Given the description of an element on the screen output the (x, y) to click on. 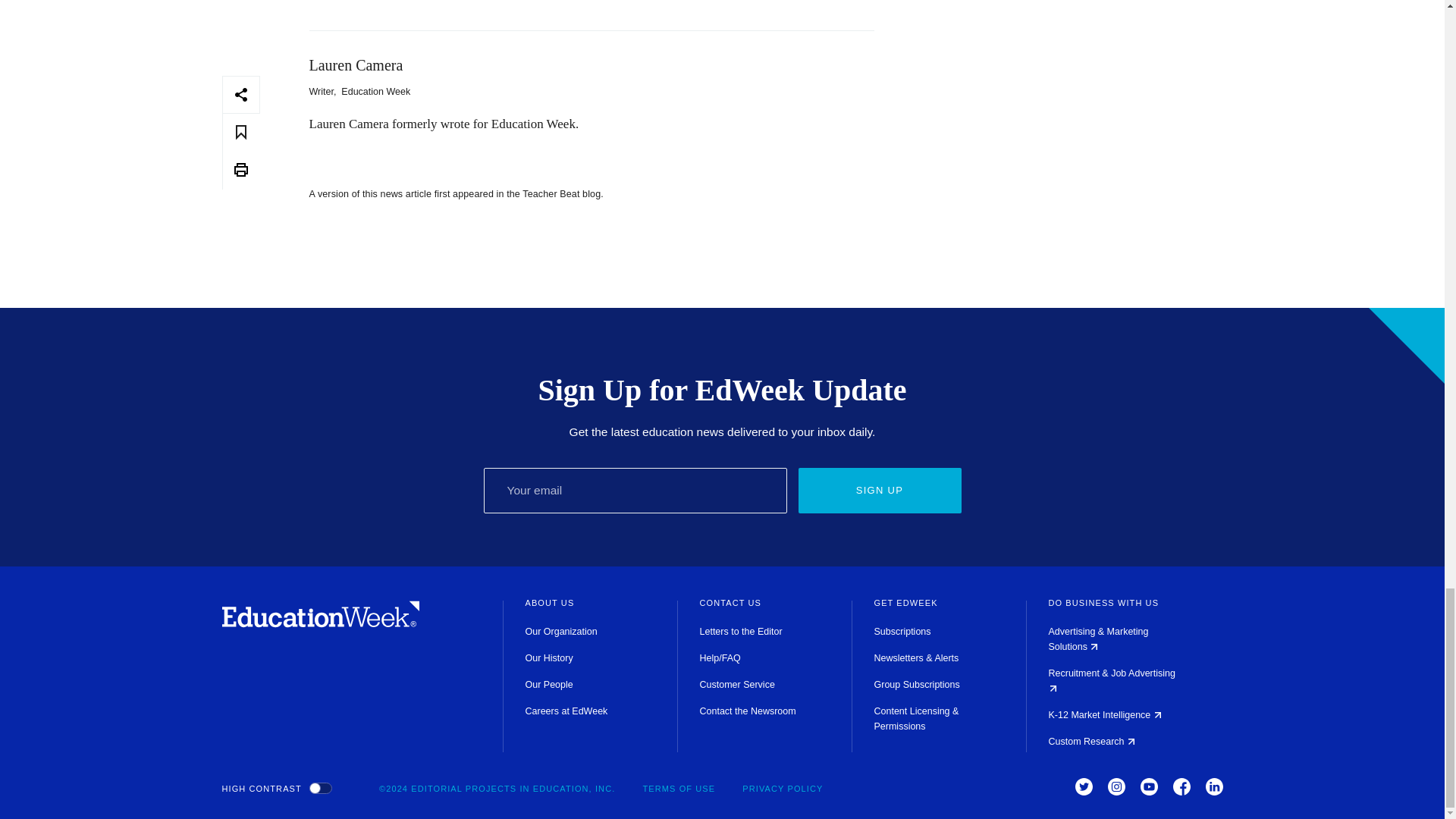
Homepage (320, 623)
